Given the description of an element on the screen output the (x, y) to click on. 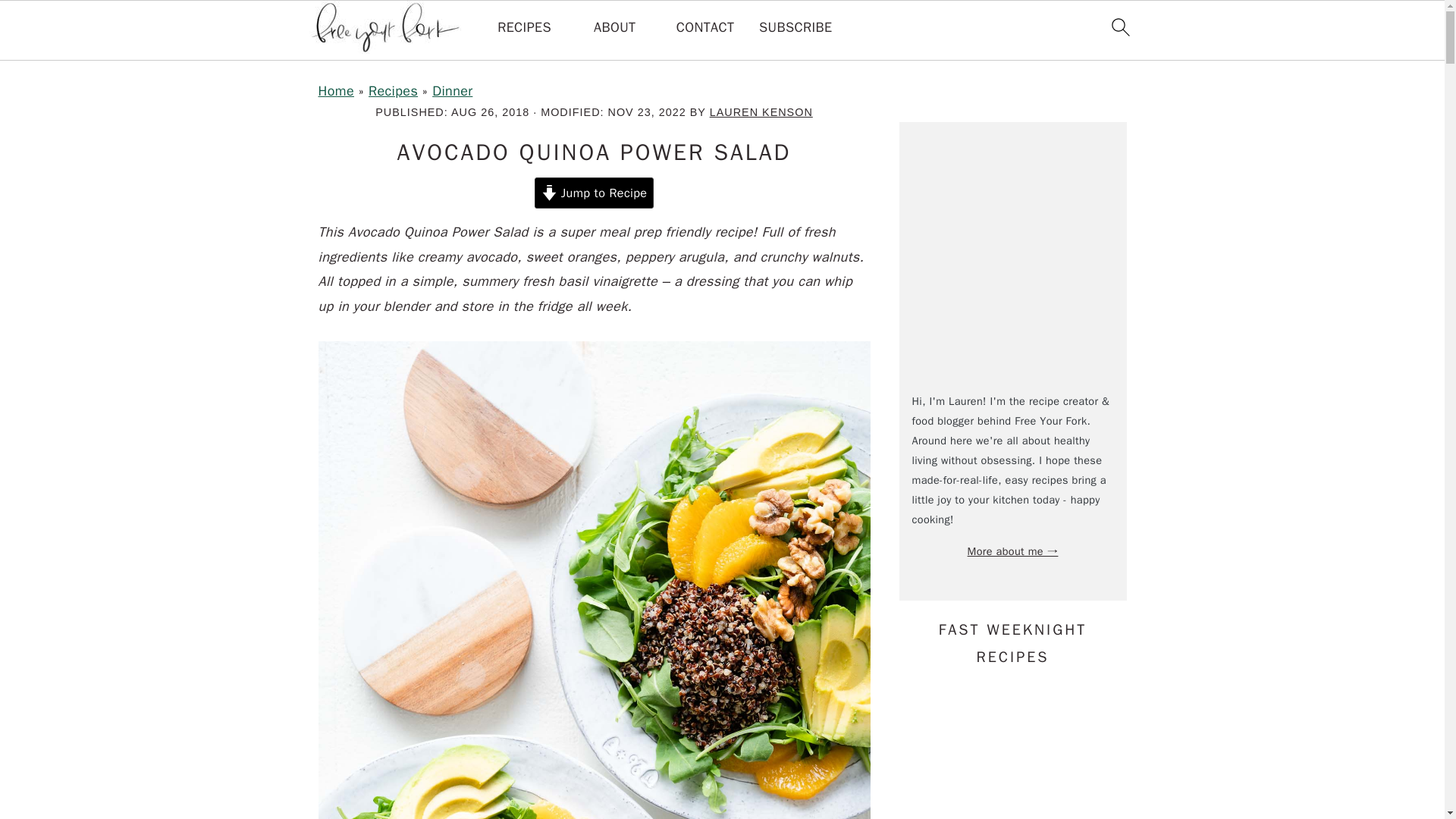
ABOUT (614, 27)
RECIPES (524, 27)
CONTACT (706, 27)
SUBSCRIBE (794, 27)
search icon (1119, 26)
